Given the description of an element on the screen output the (x, y) to click on. 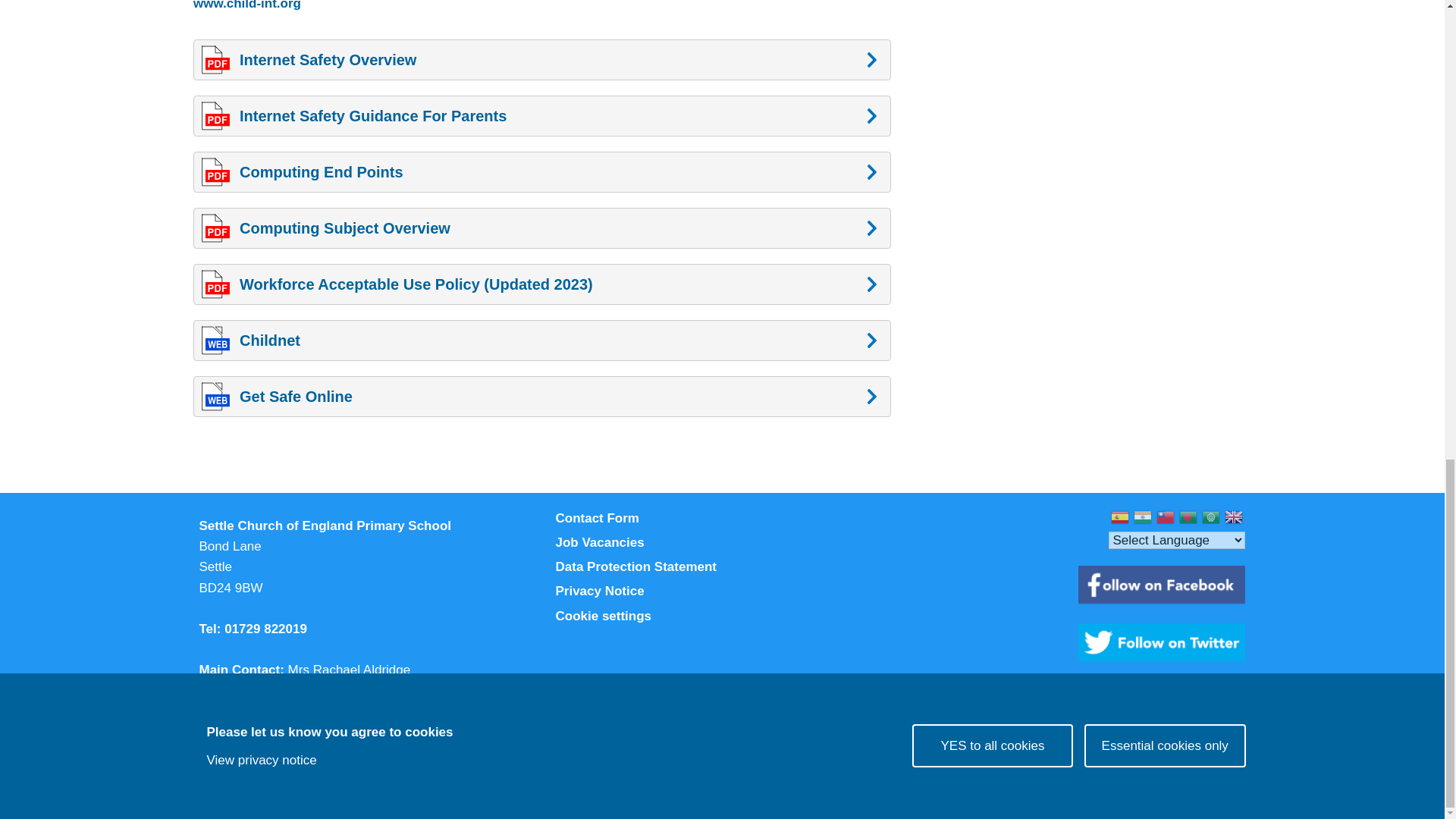
Toggle the cookie consent settings tray (721, 617)
